Given the description of an element on the screen output the (x, y) to click on. 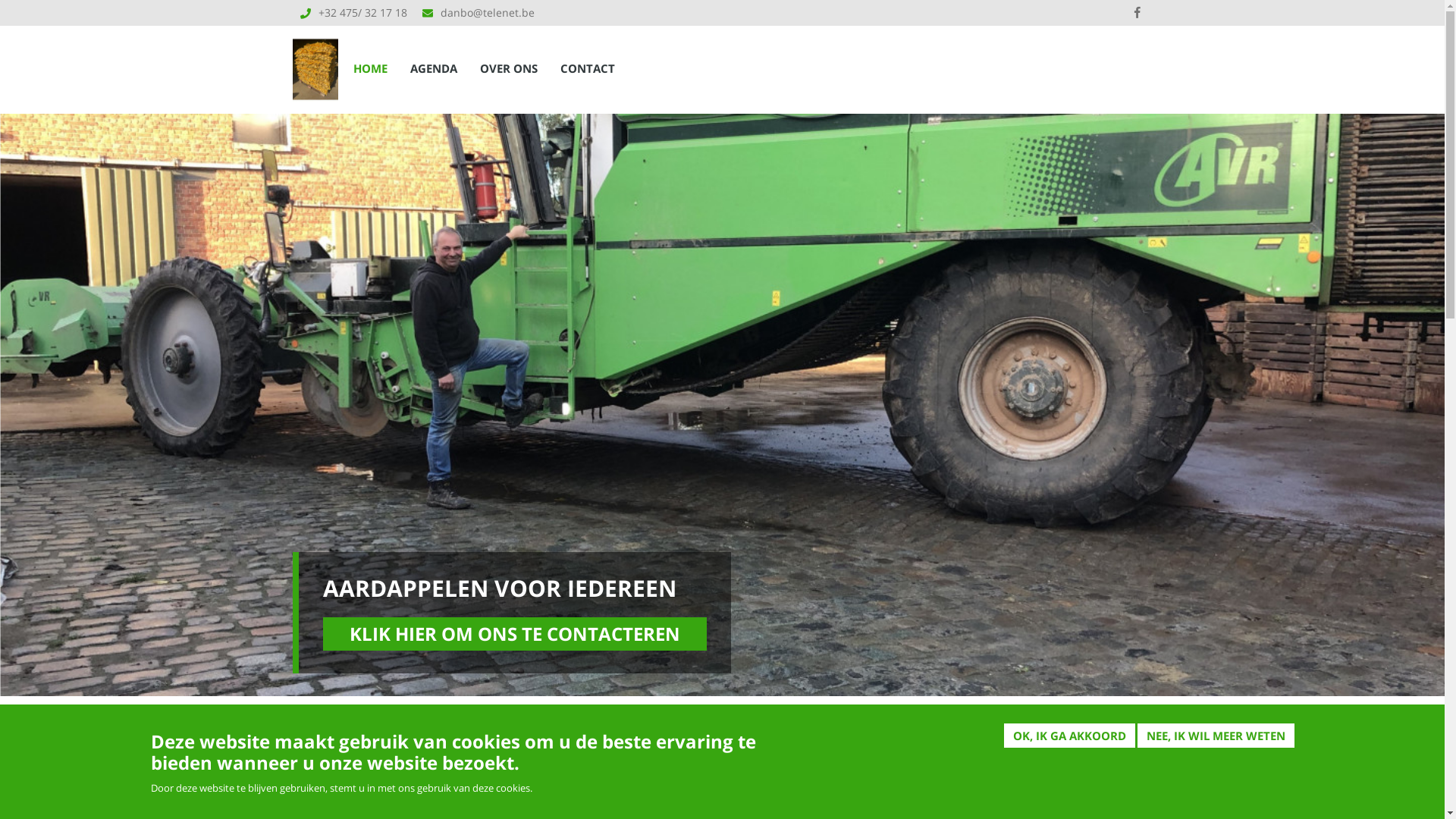
danbo@telenet.be Element type: text (486, 12)
KLIK HIER OM ONS TE CONTACTEREN Element type: text (514, 633)
AGENDA Element type: text (433, 68)
CONTACT Element type: text (587, 68)
NEE, IK WIL MEER WETEN Element type: text (1215, 735)
Home Element type: hover (315, 63)
OVER ONS Element type: text (508, 68)
OK, IK GA AKKOORD Element type: text (1069, 735)
HOME Element type: text (370, 68)
facebook Element type: text (1136, 12)
+32 475/ 32 17 18 Element type: text (362, 12)
